Given the description of an element on the screen output the (x, y) to click on. 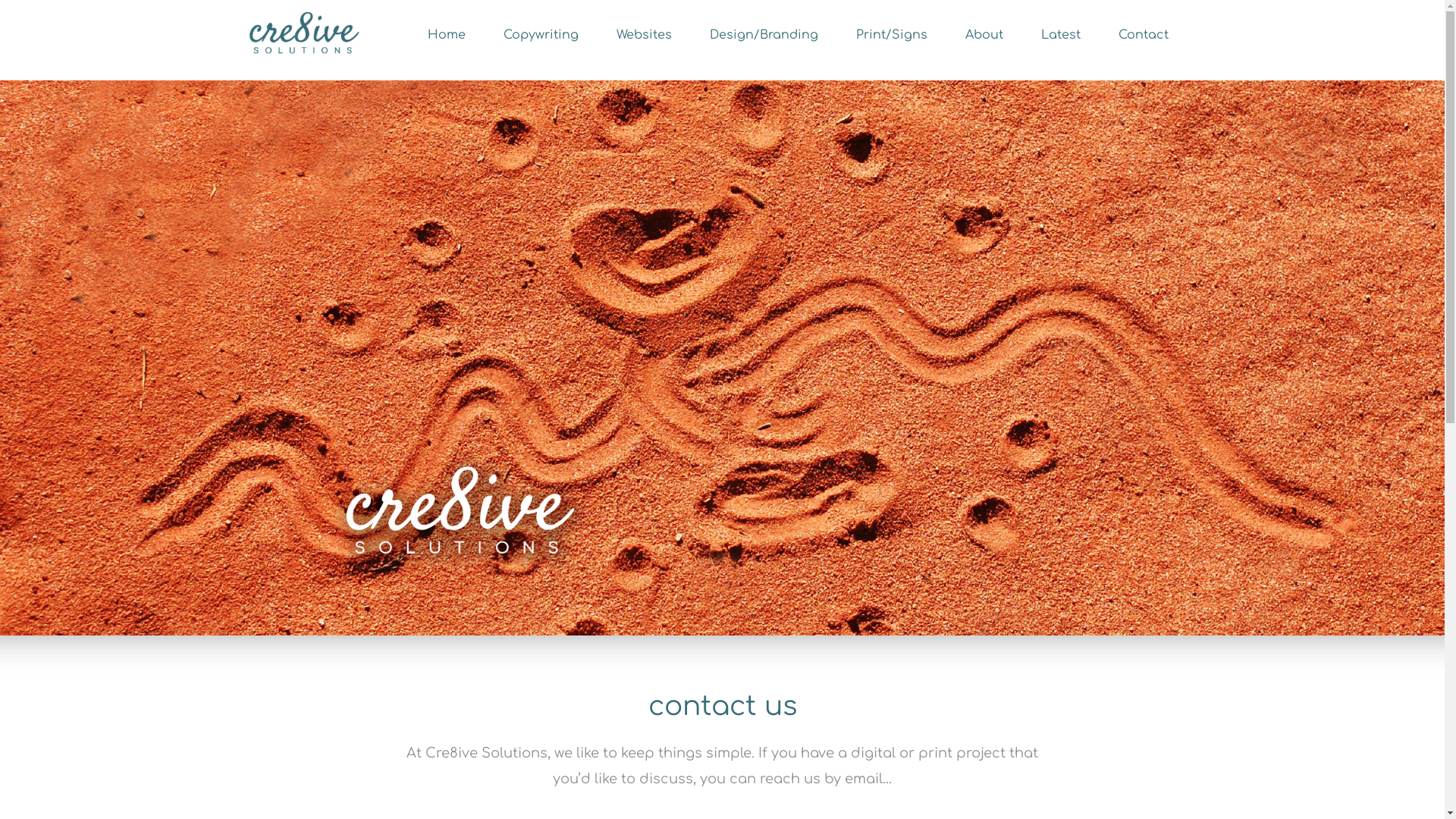
Copywriting Element type: text (540, 35)
Websites Element type: text (643, 35)
Latest Element type: text (1060, 35)
Contact Element type: text (1143, 35)
Home Element type: text (446, 35)
Print/Signs Element type: text (891, 35)
Cre8ive Solutions Element type: hover (301, 34)
About Element type: text (983, 35)
Design/Branding Element type: text (763, 35)
